Given the description of an element on the screen output the (x, y) to click on. 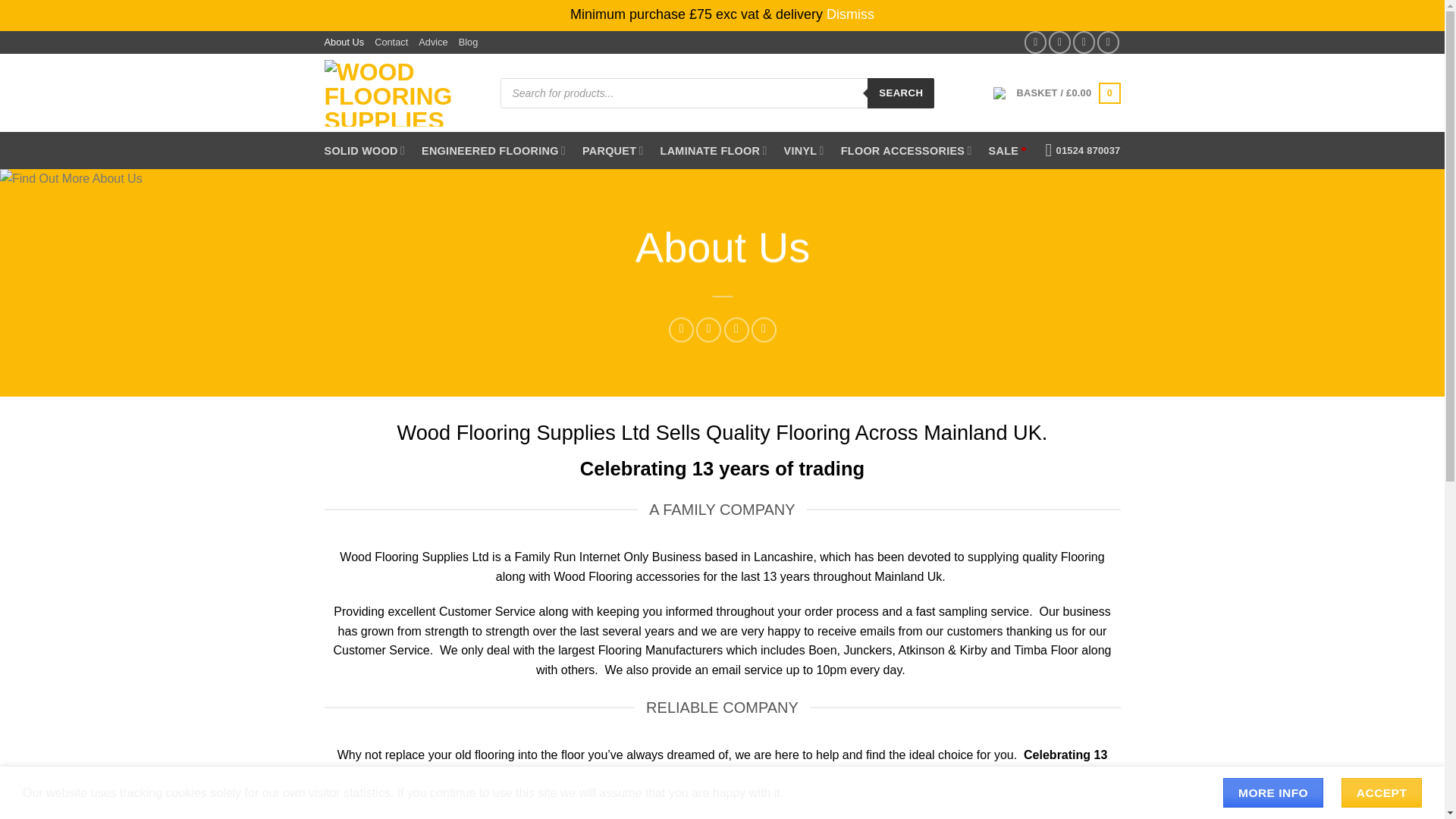
Share on Facebook (681, 330)
Dismiss (851, 14)
About Us (344, 42)
Basket (1067, 93)
Pin on Pinterest (735, 330)
Share on Twitter (707, 330)
ENGINEERED FLOORING (494, 150)
Share on LinkedIn (1108, 42)
Share on Facebook (1035, 42)
Advice (432, 42)
Contact (390, 42)
Blog (468, 42)
Share on Twitter (1059, 42)
01524 870037 (1083, 149)
SEARCH (900, 92)
